Given the description of an element on the screen output the (x, y) to click on. 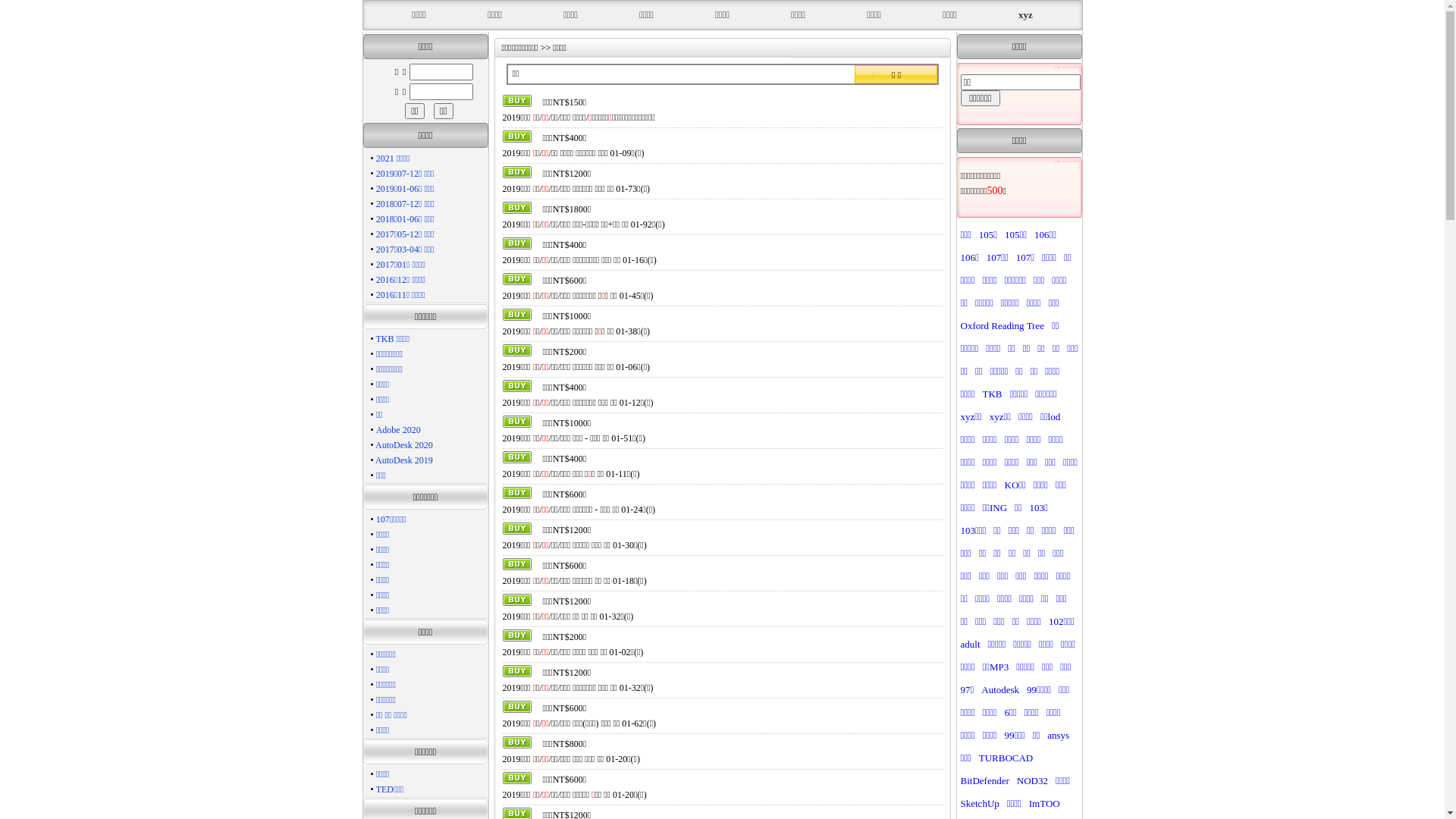
TURBOCAD Element type: text (1006, 757)
SketchUp Element type: text (979, 803)
ImTOO Element type: text (1044, 803)
AutoDesk 2020 Element type: text (404, 444)
Autodesk Element type: text (1000, 689)
NOD32 Element type: text (1032, 780)
BitDefender Element type: text (984, 780)
Oxford Reading Tree Element type: text (1002, 325)
AutoDesk 2019 Element type: text (404, 460)
adult Element type: text (969, 643)
TKB Element type: text (992, 393)
Adobe 2020 Element type: text (398, 429)
ansys Element type: text (1058, 734)
xyz Element type: text (1025, 14)
